Given the description of an element on the screen output the (x, y) to click on. 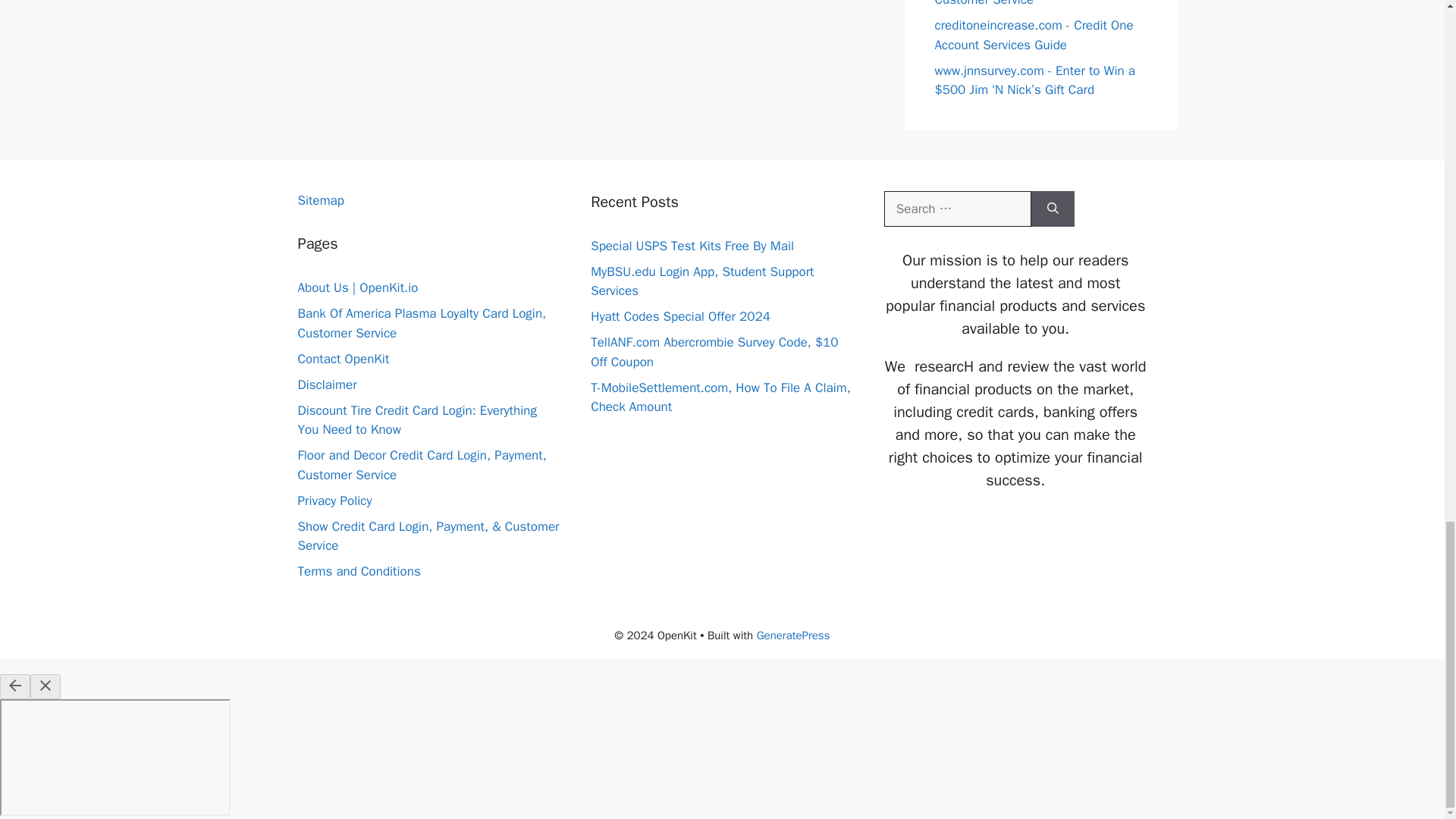
Scroll back to top (1406, 78)
Search for: (956, 208)
VanillaReload.com Activation, Login, Customer Service (1035, 3)
Sitemap (320, 199)
creditoneincrease.com - Credit One Account Services Guide (1033, 35)
